Given the description of an element on the screen output the (x, y) to click on. 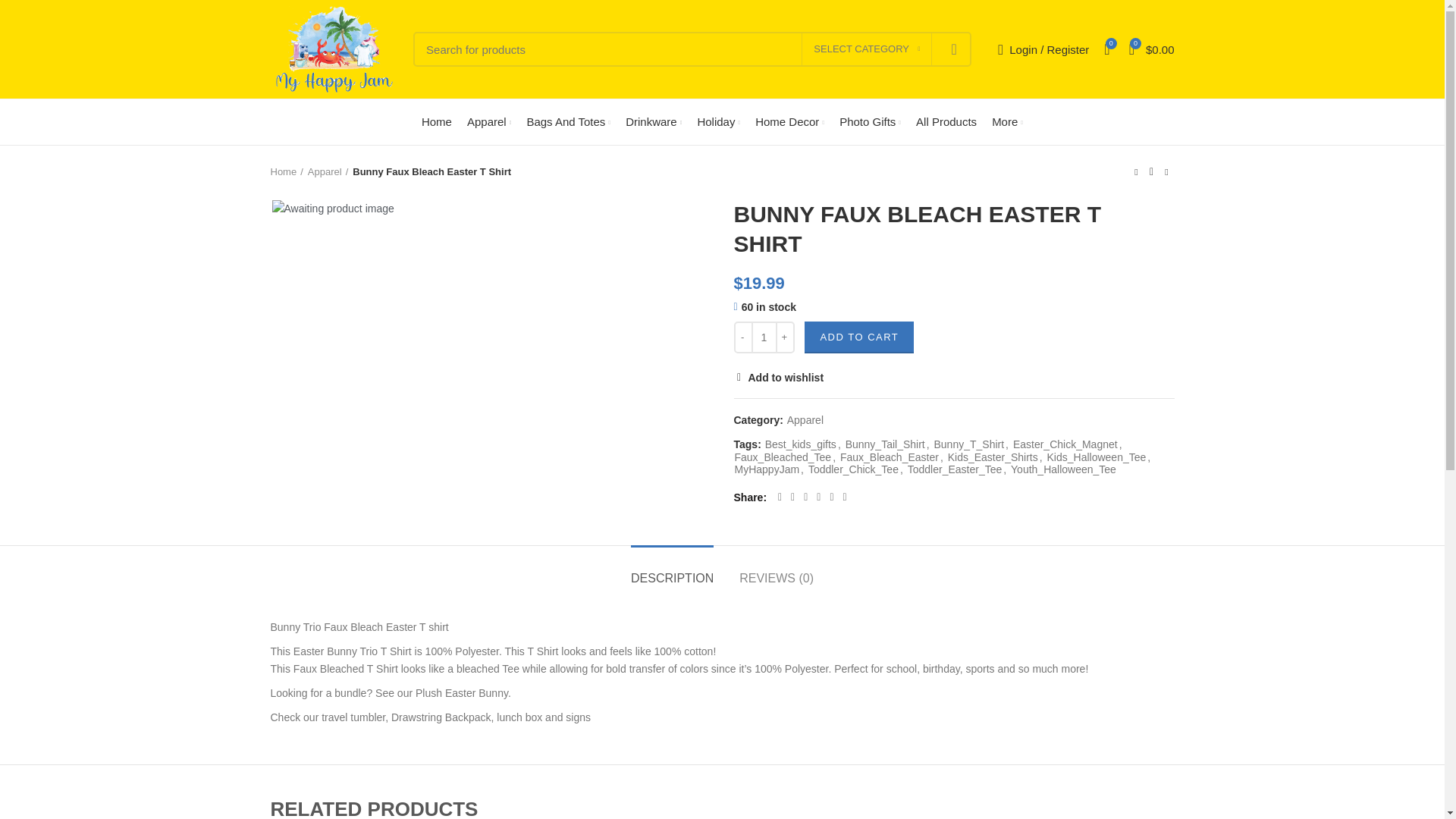
Special (18, 299)
Special (869, 122)
SELECT CATEGORY (866, 49)
Search for products (692, 48)
My account (1043, 49)
SELECT CATEGORY (866, 49)
Shopping cart (1151, 49)
